Given the description of an element on the screen output the (x, y) to click on. 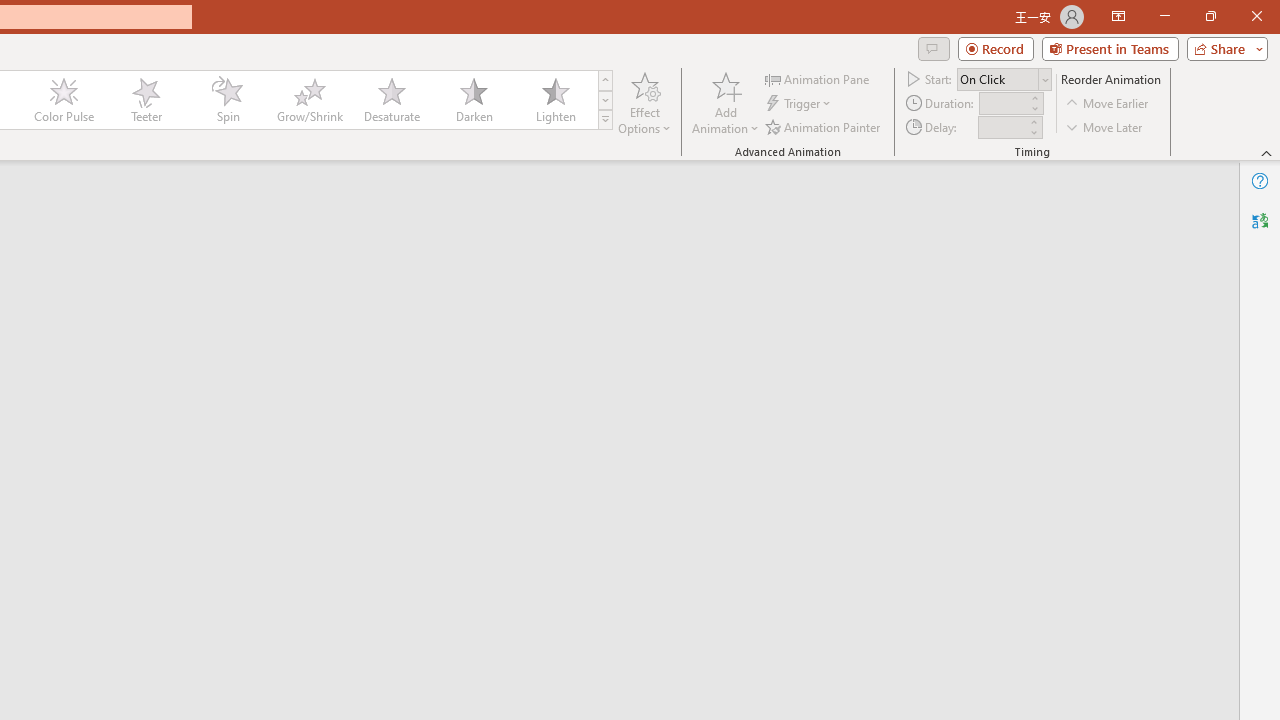
Animation Pane (818, 78)
Animation Delay (1002, 127)
Animation Painter (824, 126)
